Given the description of an element on the screen output the (x, y) to click on. 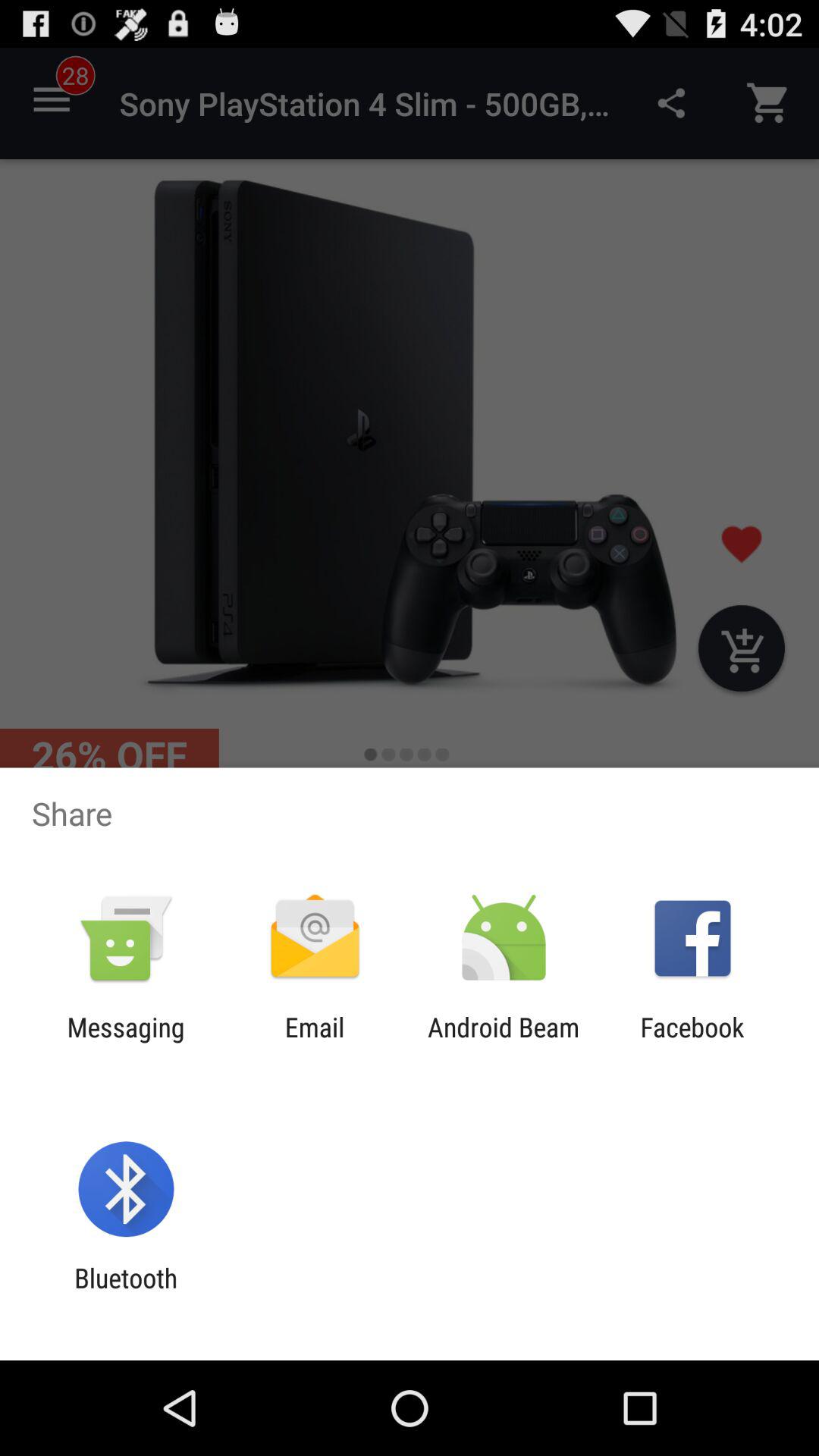
swipe until the android beam (503, 1042)
